Given the description of an element on the screen output the (x, y) to click on. 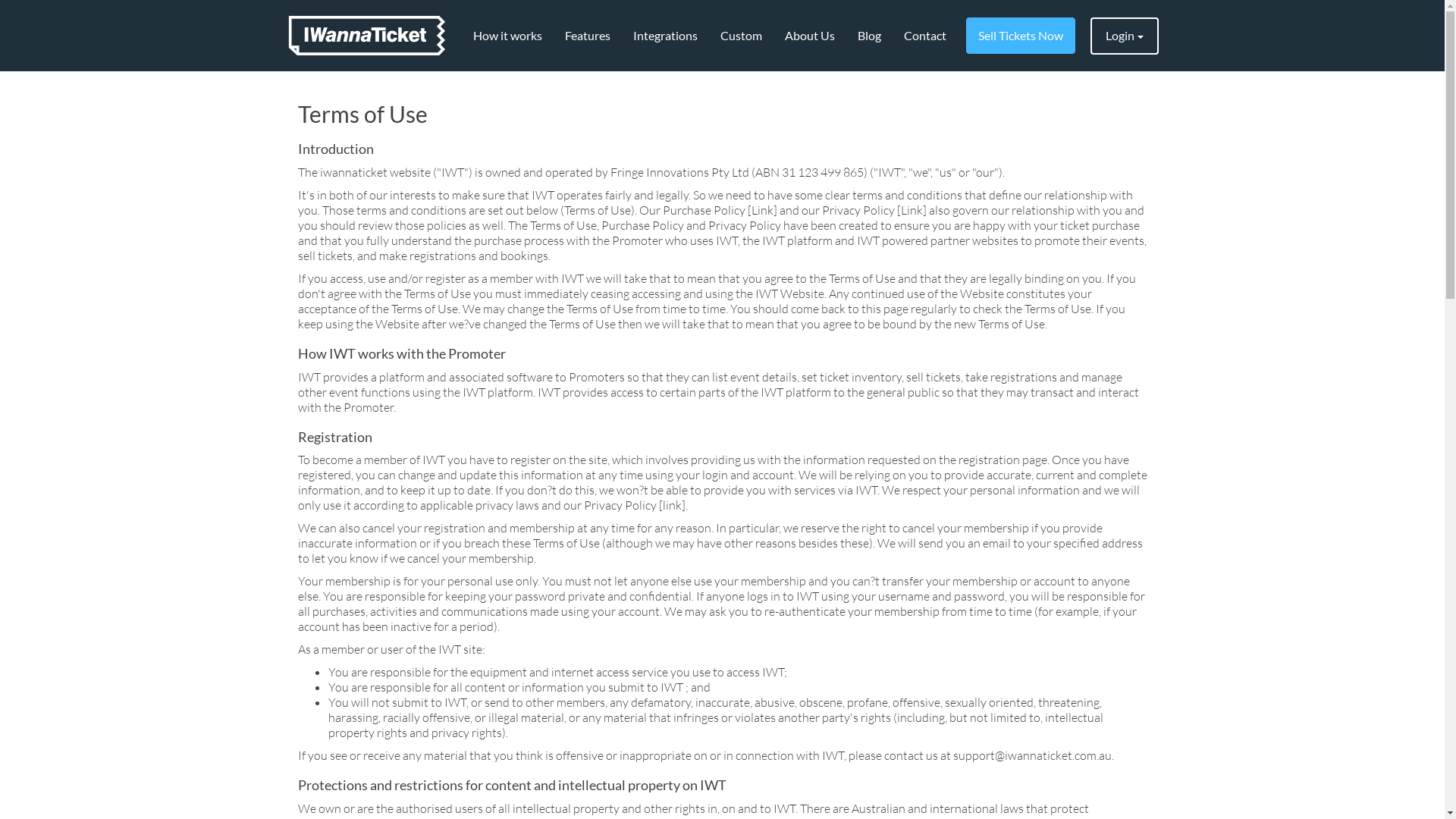
Sell Tickets Now Element type: text (1020, 35)
Login Element type: text (1124, 35)
About Us Element type: text (809, 35)
Contact Element type: text (924, 35)
IWannaTicket Element type: text (366, 35)
Integrations Element type: text (665, 35)
How it works Element type: text (506, 35)
Blog Element type: text (869, 35)
Features Element type: text (587, 35)
Custom Element type: text (740, 35)
